Given the description of an element on the screen output the (x, y) to click on. 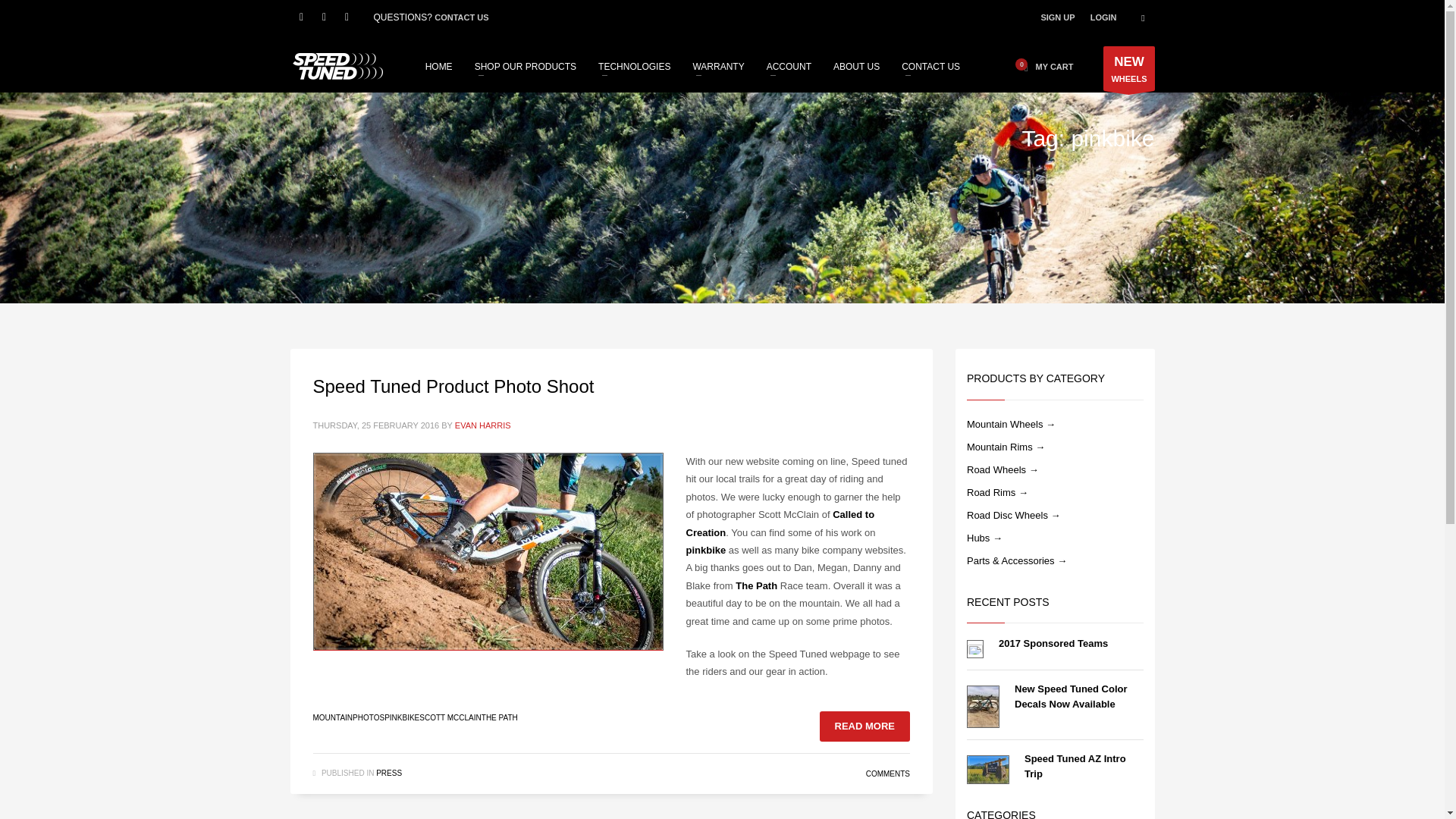
Instagram (346, 16)
2017 Sponsored Teams (1053, 643)
SIGN UP (1057, 17)
Speed Tuned AZ Intro Trip (1075, 765)
Twitter (323, 16)
WARRANTY (717, 66)
Facebook (301, 16)
SHOP OUR PRODUCTS (525, 66)
CONTACT US (460, 17)
New Speed Tuned Color Decals Now Available (1070, 696)
